Given the description of an element on the screen output the (x, y) to click on. 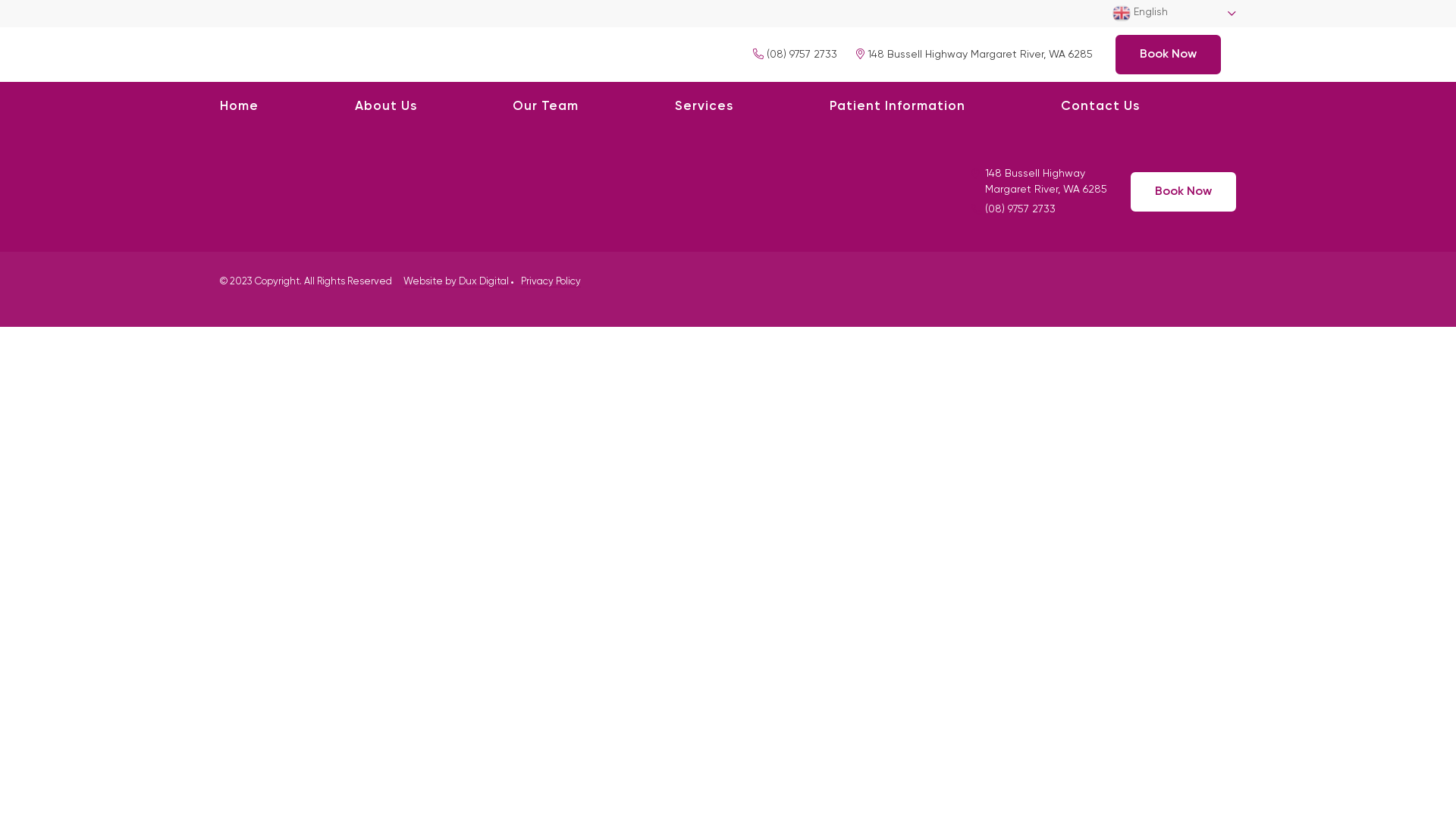
(08) 9757 2733 Element type: text (1020, 208)
Book Now Element type: text (1183, 191)
Patient Information Element type: text (897, 106)
Privacy Policy Element type: text (550, 281)
Book Now Element type: text (1167, 54)
Our Team Element type: text (545, 106)
Skip to content Element type: text (0, 0)
Services Element type: text (703, 106)
Home Element type: text (238, 106)
(08) 9757 2733 Element type: text (795, 53)
English Element type: text (1174, 13)
Contact Us Element type: text (1099, 106)
About Us Element type: text (385, 106)
Website by Dux Digital Element type: text (455, 281)
